Given the description of an element on the screen output the (x, y) to click on. 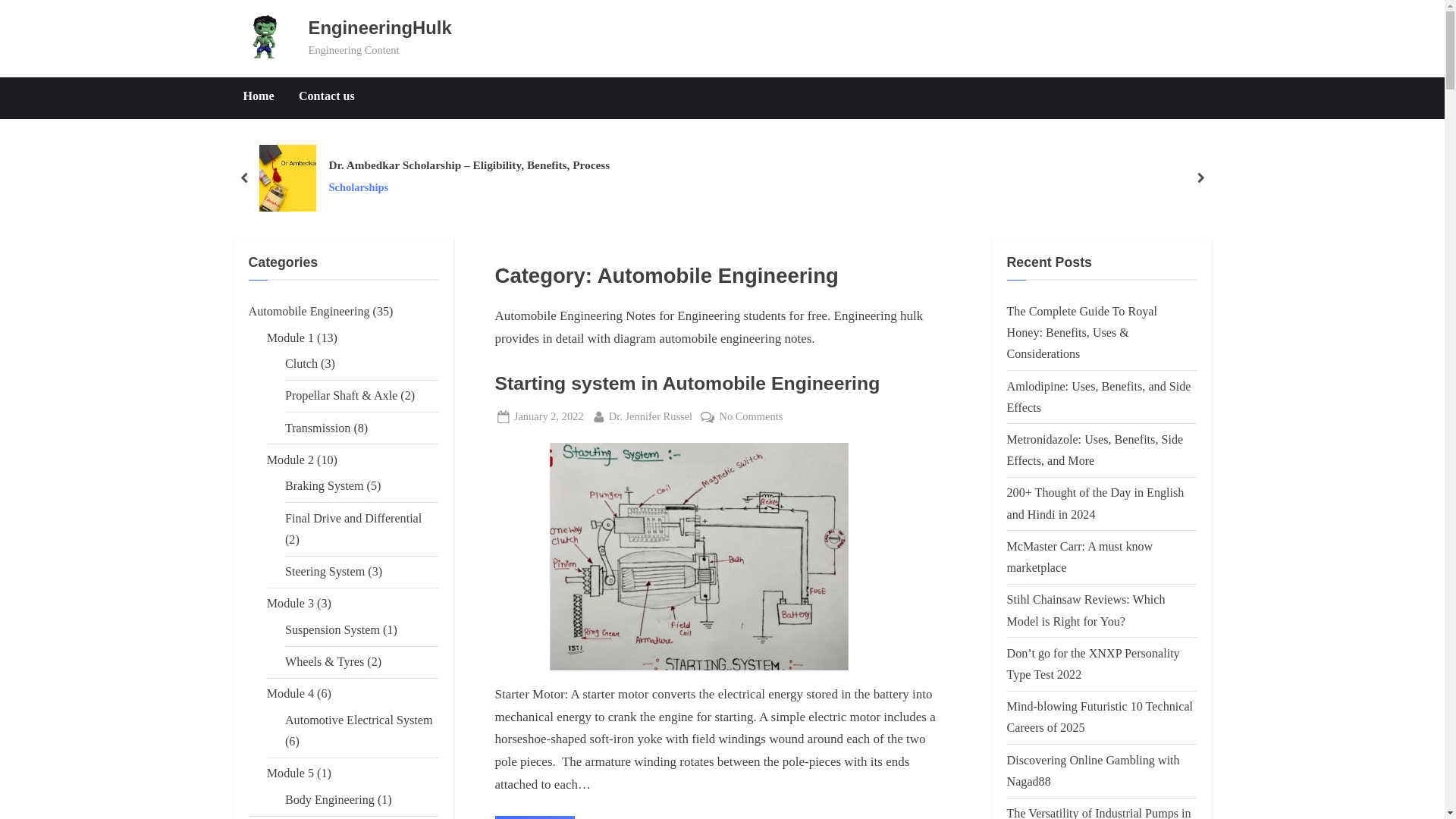
EngineeringHulk (379, 27)
Contact us (326, 97)
Scholarships (469, 187)
Home (257, 97)
